Given the description of an element on the screen output the (x, y) to click on. 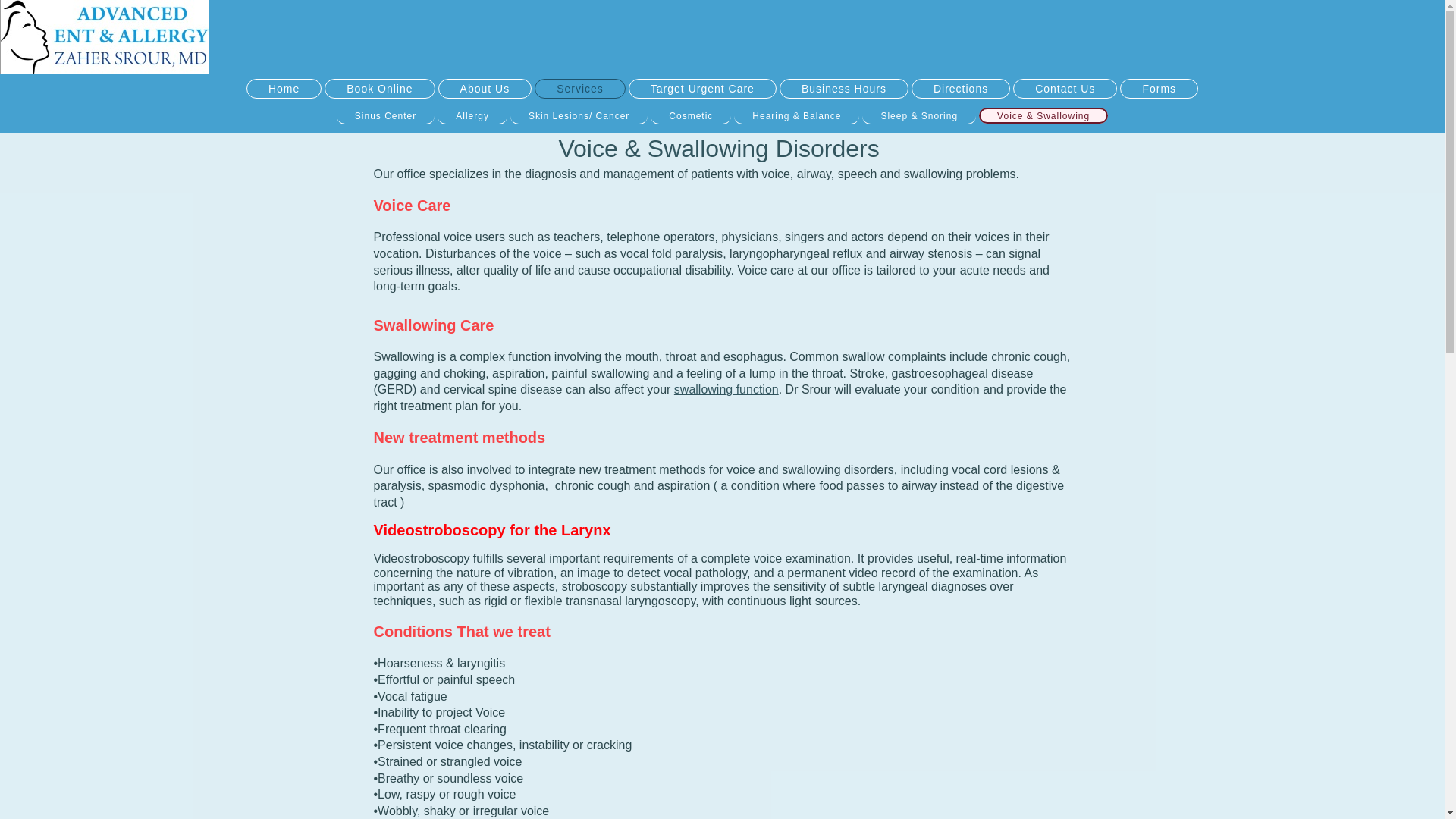
Target Urgent Care (702, 88)
Contact Us (1064, 88)
Allergy (472, 115)
About Us (485, 88)
Home (283, 88)
Business Hours (843, 88)
Directions (960, 88)
Forms (1158, 88)
swallowing function (726, 389)
Book Online (378, 88)
